Given the description of an element on the screen output the (x, y) to click on. 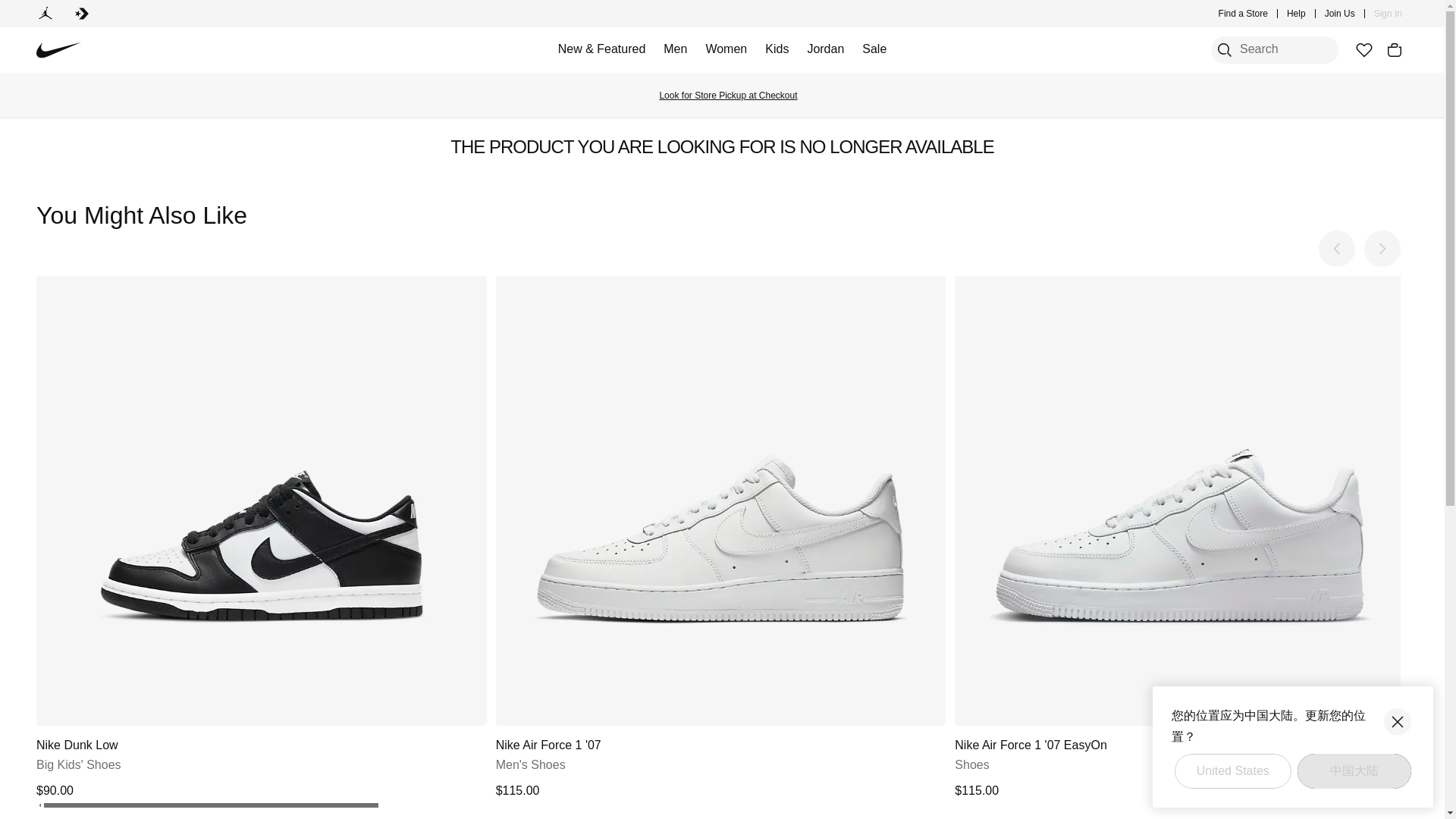
Bag Items: 0 (1393, 49)
Join Us (1339, 13)
Sign In (1388, 13)
Favorites (1364, 49)
Help (1296, 13)
Find a Store (1243, 13)
